Given the description of an element on the screen output the (x, y) to click on. 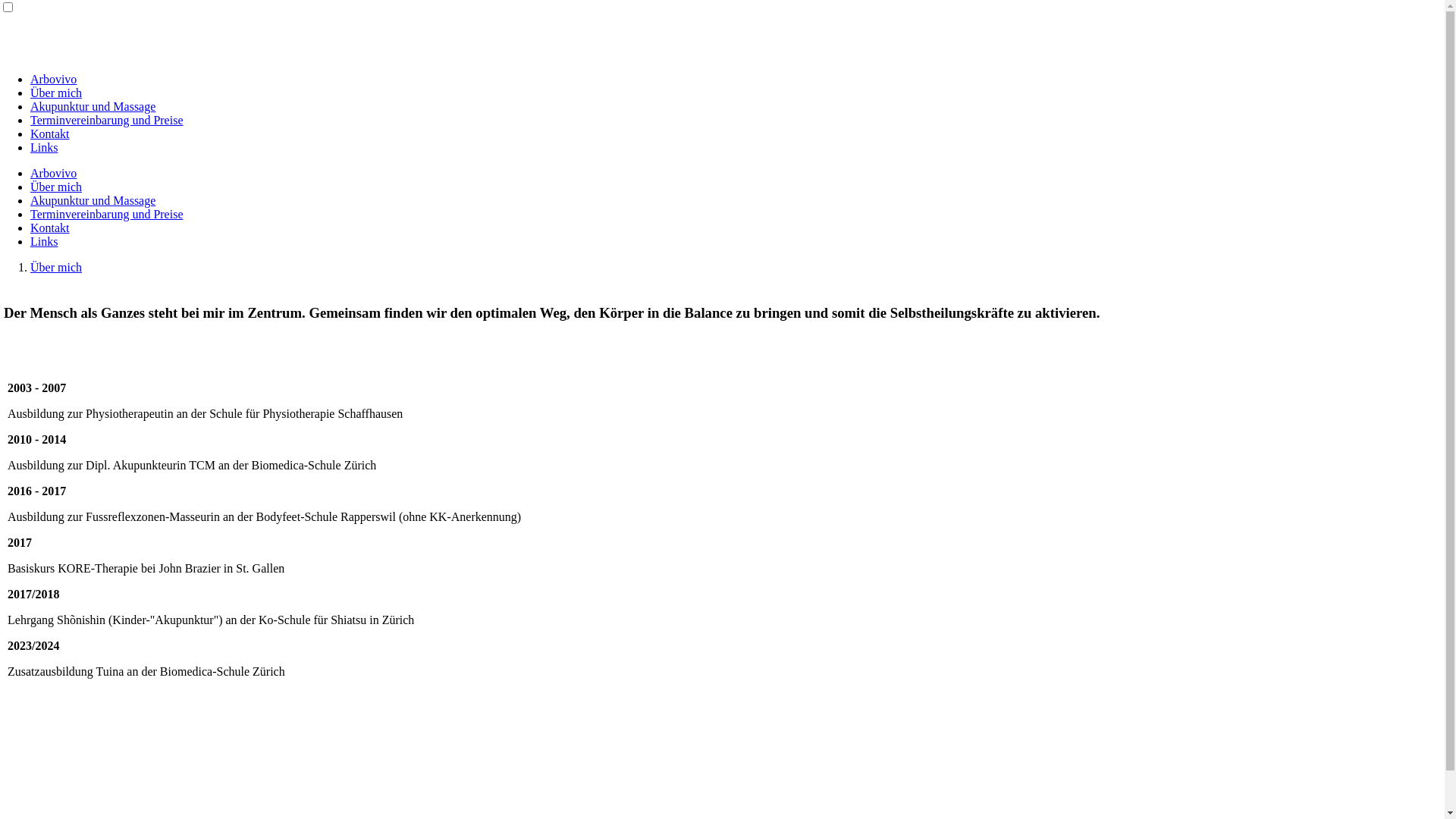
Arbovivo Element type: text (53, 78)
Arbovivo Element type: text (53, 172)
Kontakt Element type: text (49, 227)
Links Element type: text (43, 147)
Links Element type: text (43, 241)
Terminvereinbarung und Preise Element type: text (106, 213)
Akupunktur und Massage Element type: text (92, 200)
Terminvereinbarung und Preise Element type: text (106, 119)
Akupunktur und Massage Element type: text (92, 106)
Kontakt Element type: text (49, 133)
